Given the description of an element on the screen output the (x, y) to click on. 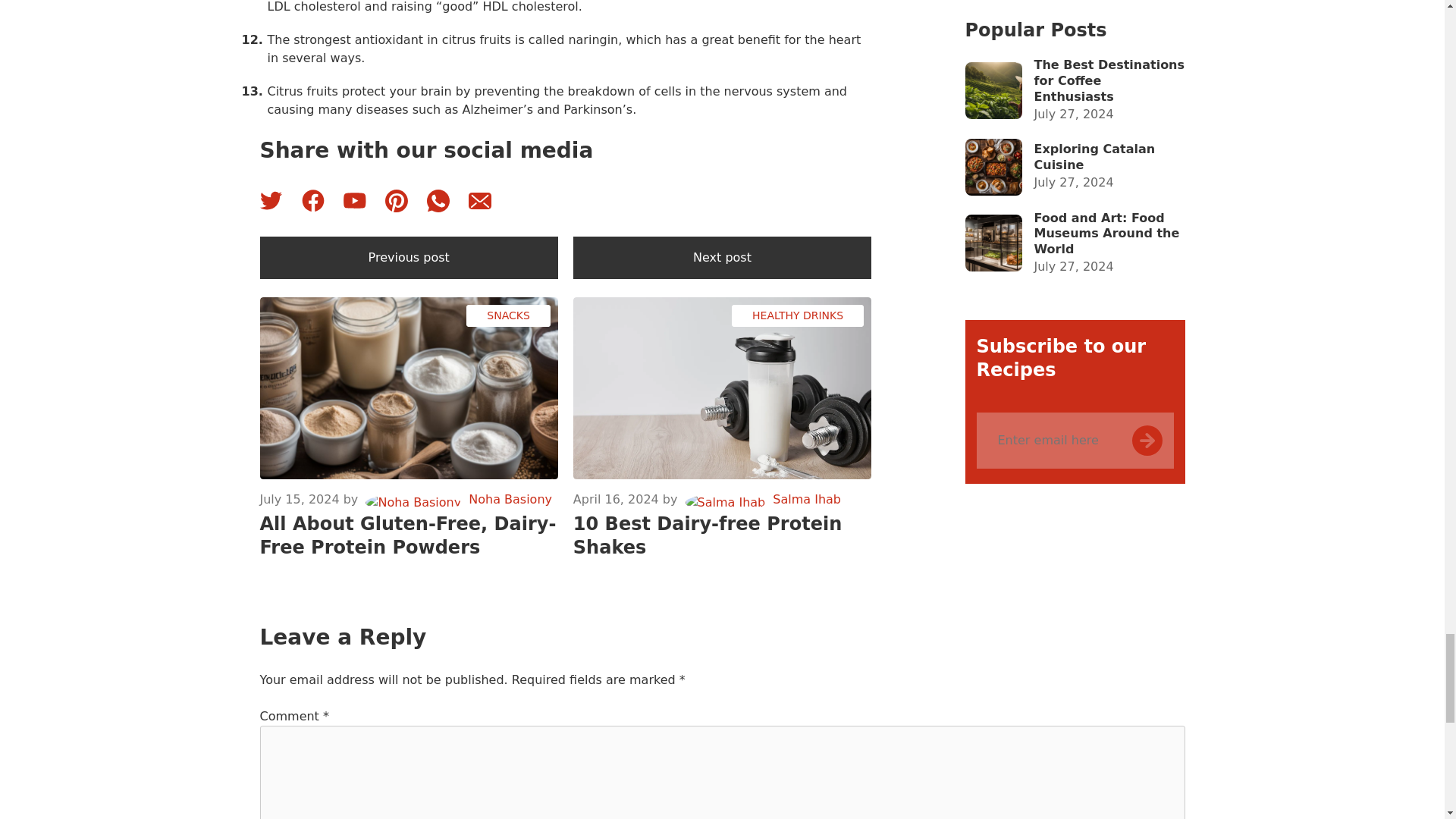
10 Best Dairy-free Protein Shakes Healthy Drinks,drink (721, 388)
Share on WhatsApp (437, 200)
